Given the description of an element on the screen output the (x, y) to click on. 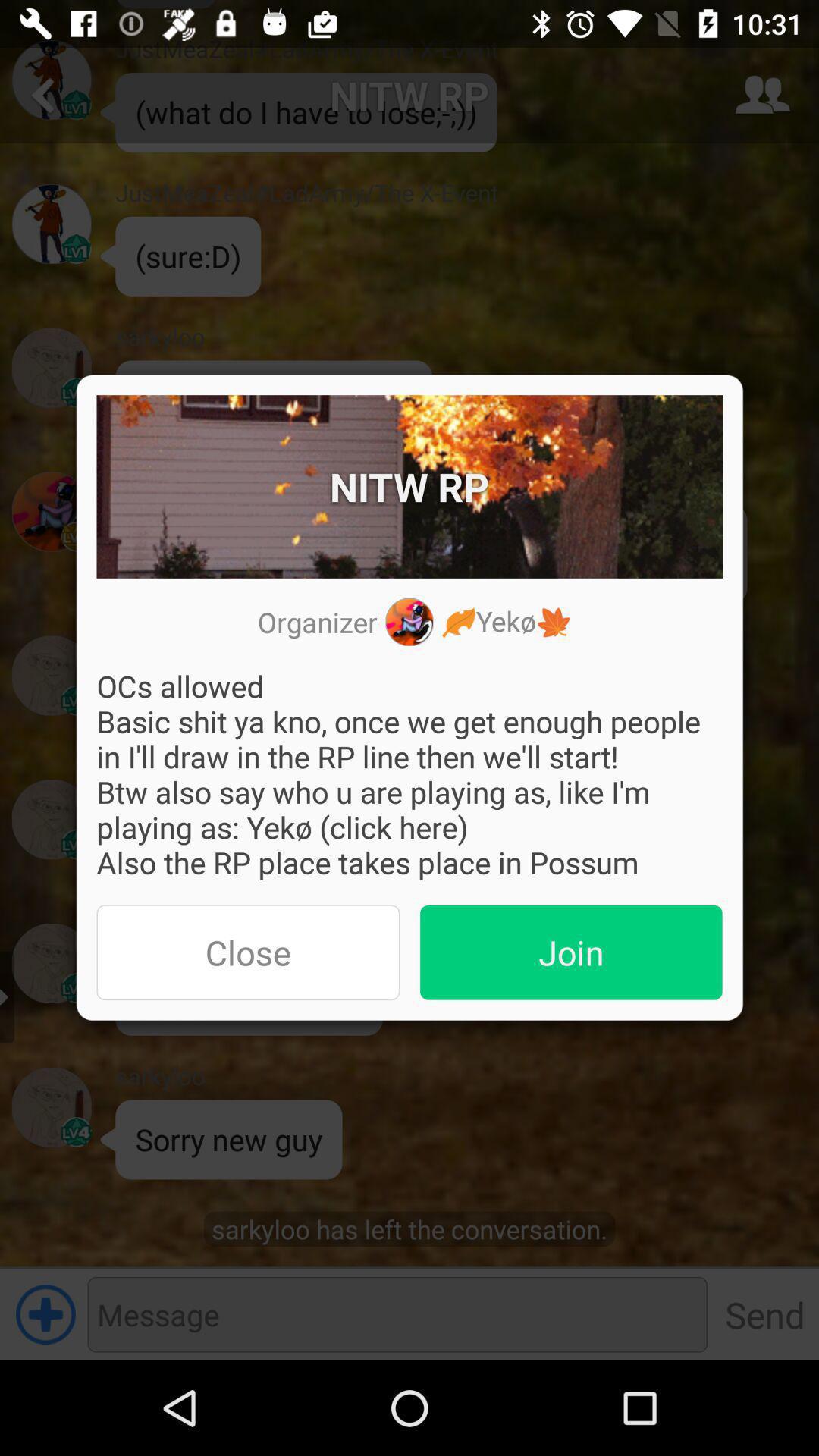
tap item next to close item (570, 952)
